Given the description of an element on the screen output the (x, y) to click on. 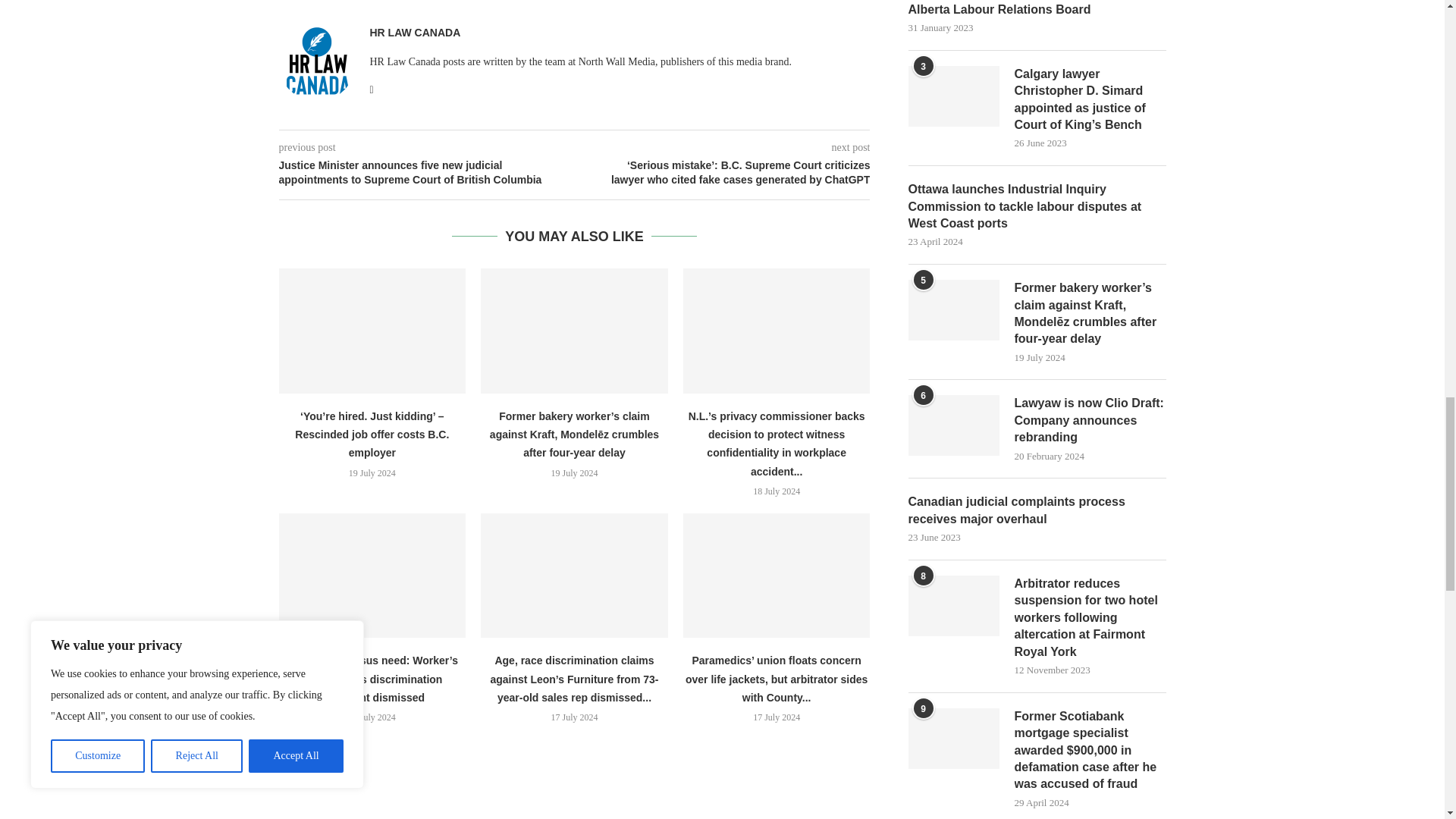
Posts by HR Law Canada (415, 32)
